Given the description of an element on the screen output the (x, y) to click on. 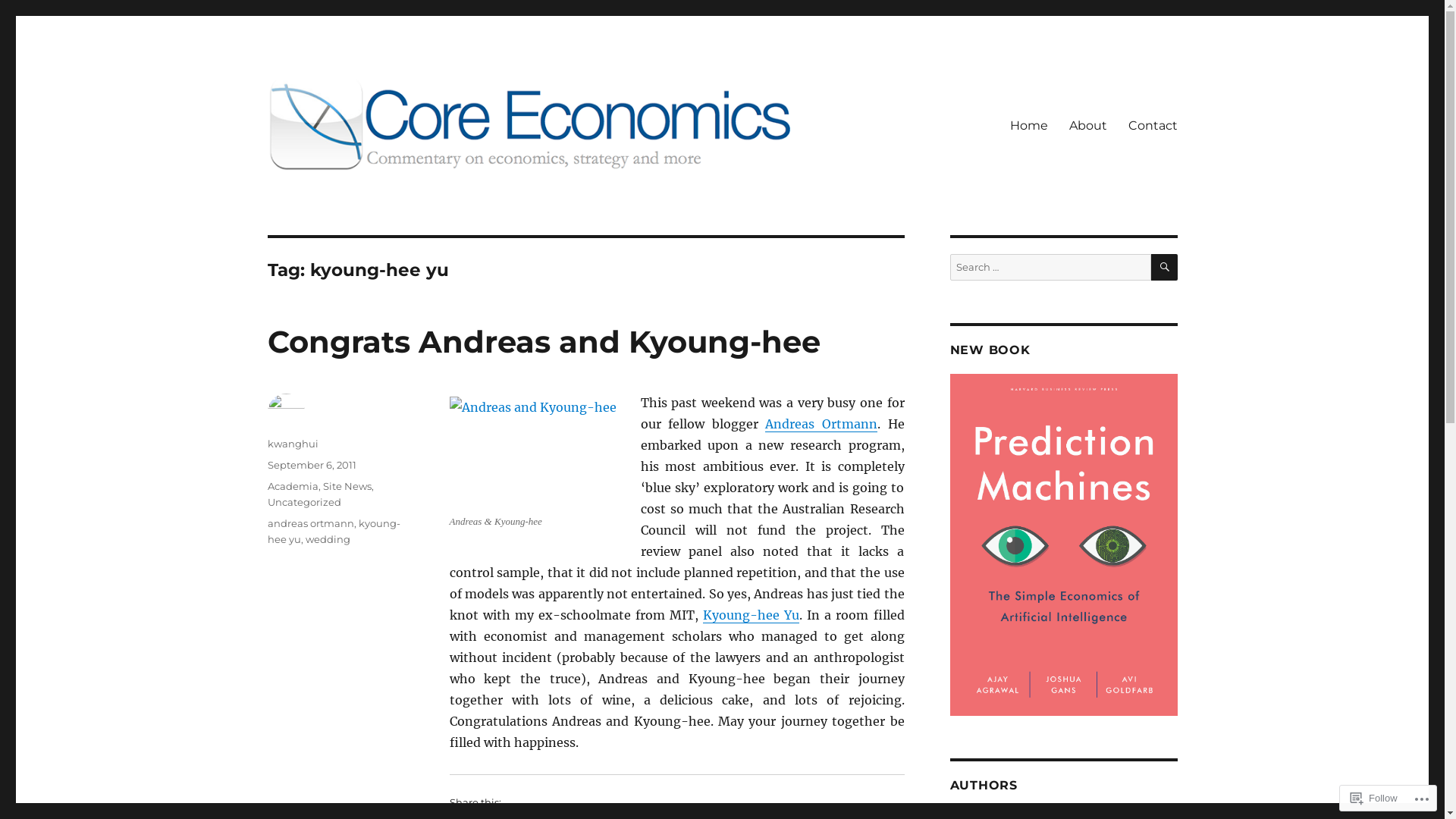
kyoung-hee yu Element type: text (332, 531)
wedding Element type: text (326, 539)
Academia Element type: text (291, 486)
September 6, 2011 Element type: text (310, 464)
Home Element type: text (1028, 125)
andreas ortmann Element type: text (309, 523)
Follow Element type: text (1373, 797)
About Element type: text (1087, 125)
Core Economics Element type: text (355, 194)
Uncategorized Element type: text (303, 501)
Kyoung-hee Yu Element type: text (750, 614)
Site News Element type: text (347, 486)
Contact Element type: text (1152, 125)
kwanghui Element type: text (291, 443)
Andreas and Kyoung-hee Element type: hover (533, 452)
Andreas Ortmann Element type: text (821, 423)
Congrats Andreas and Kyoung-hee Element type: text (542, 341)
